Given the description of an element on the screen output the (x, y) to click on. 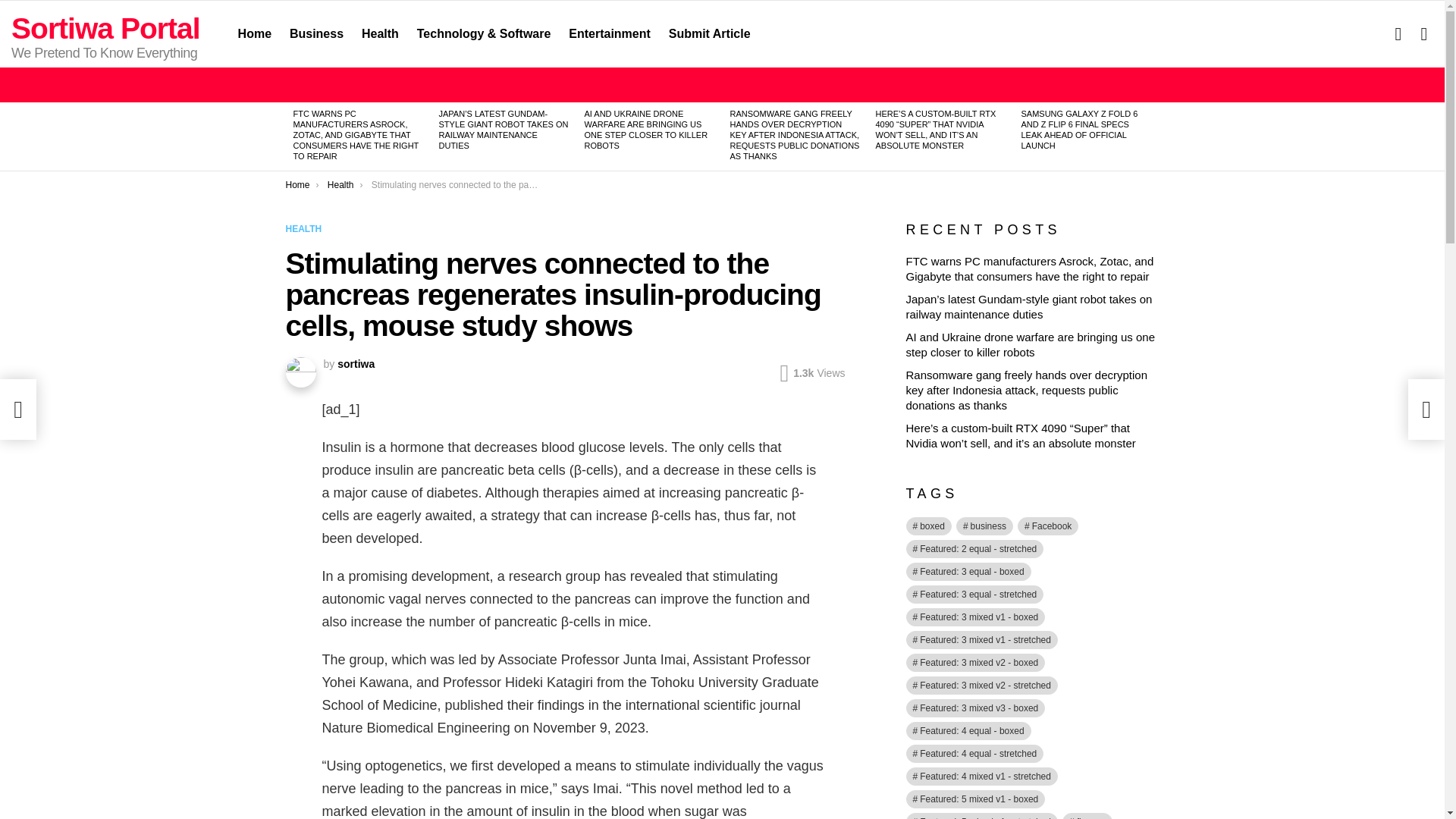
Sortiwa Portal (105, 28)
Posts by sortiwa (355, 363)
Submit Article (709, 33)
Business (316, 33)
Health (379, 33)
sortiwa (355, 363)
Home (254, 33)
Health (340, 184)
